Given the description of an element on the screen output the (x, y) to click on. 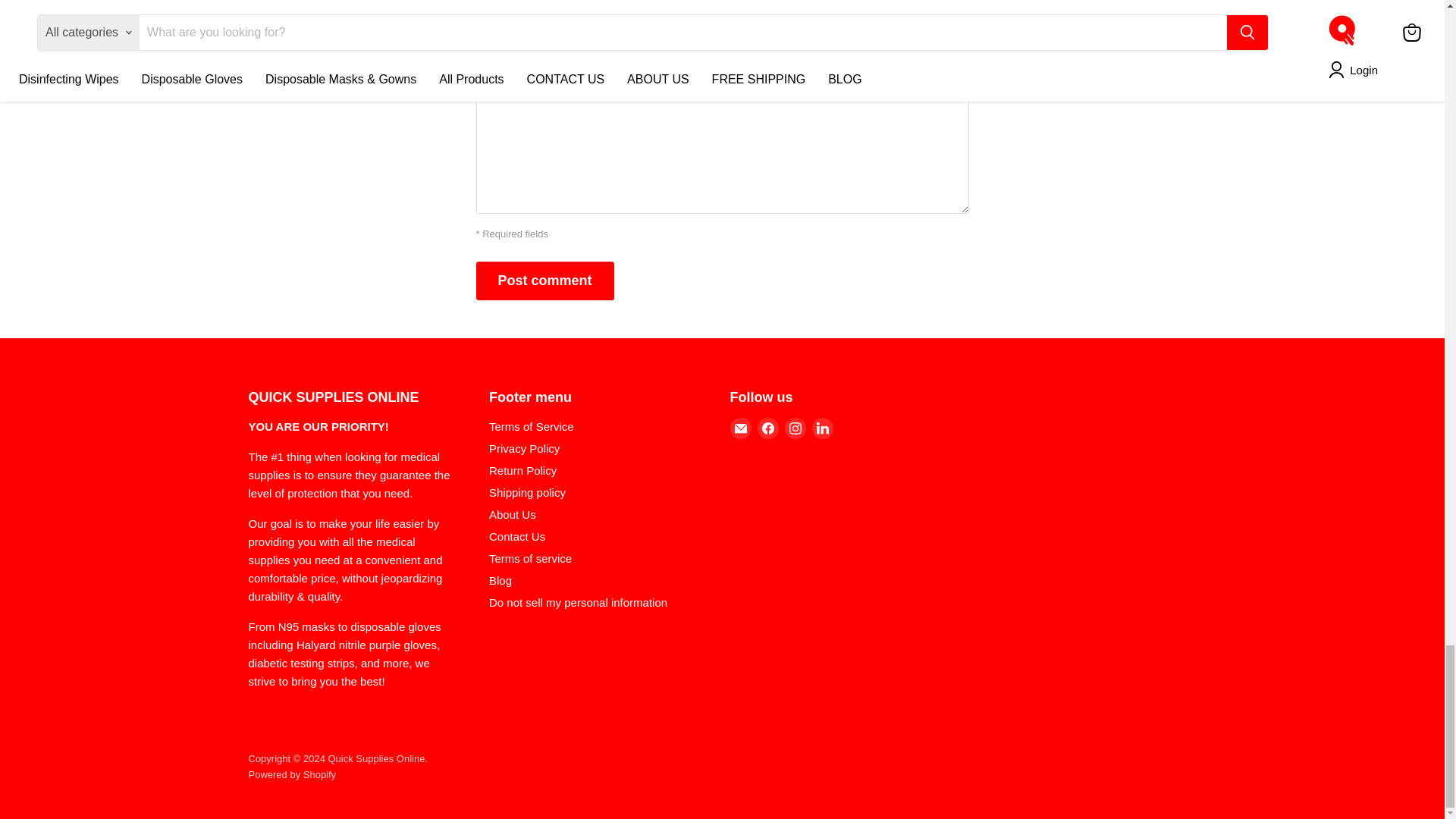
Instagram (794, 427)
E-mail (740, 427)
LinkedIn (821, 427)
Facebook (767, 427)
